Given the description of an element on the screen output the (x, y) to click on. 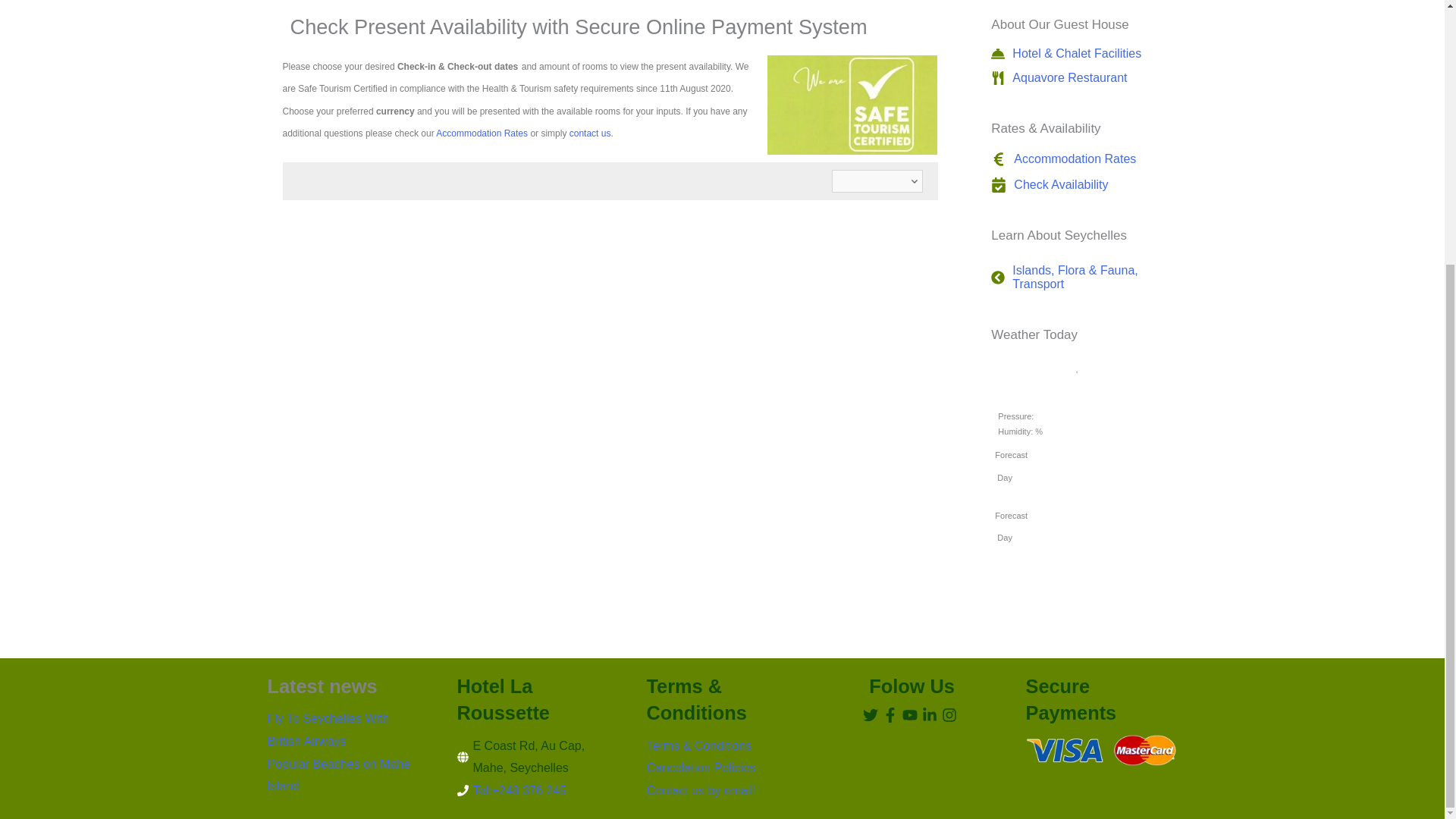
Check Availability (1049, 184)
contact us (590, 132)
Aquavore Restaurant (1058, 78)
Accommodation Rates (1063, 159)
Accommodation Rates (481, 132)
